Given the description of an element on the screen output the (x, y) to click on. 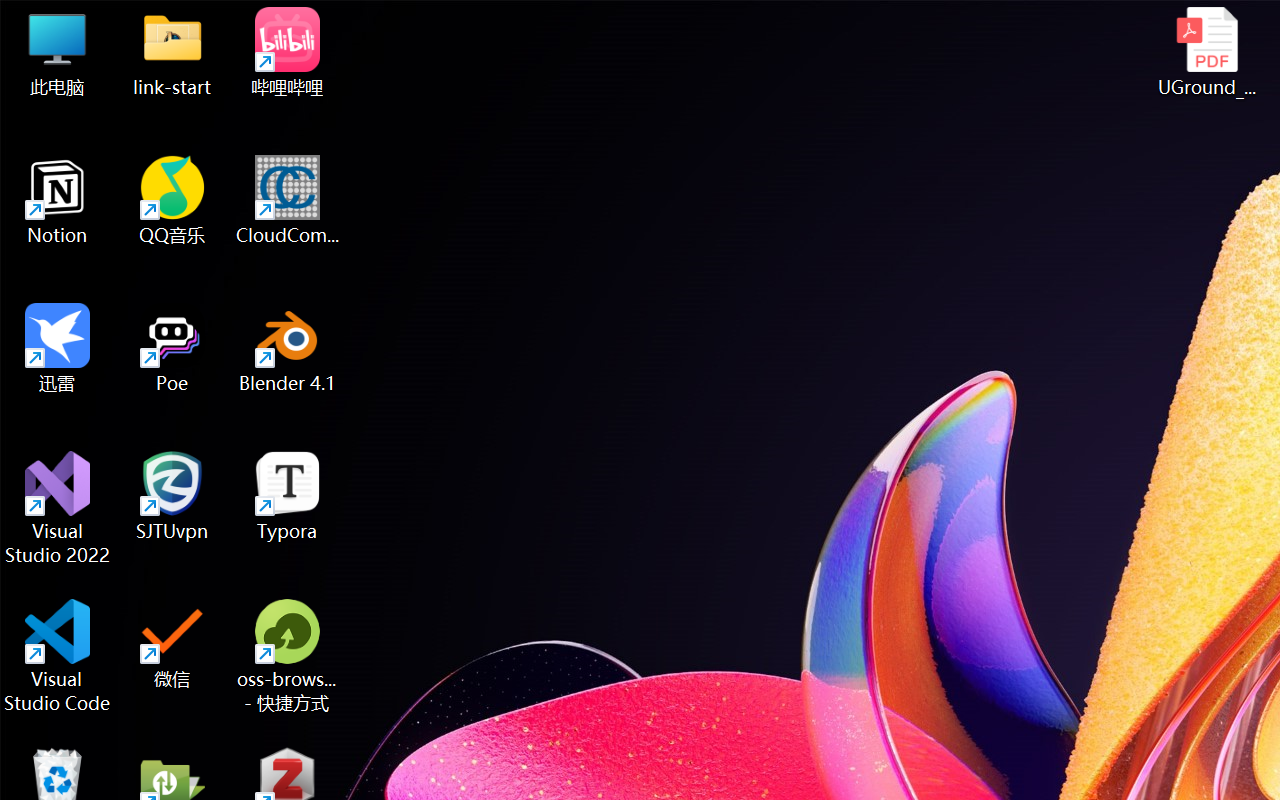
About these terms (152, 557)
Your relationship with Google (152, 293)
Privacy Checkup (796, 22)
Sign in - Google Accounts (955, 22)
Using Google services (152, 346)
Software in Google services (152, 452)
